Given the description of an element on the screen output the (x, y) to click on. 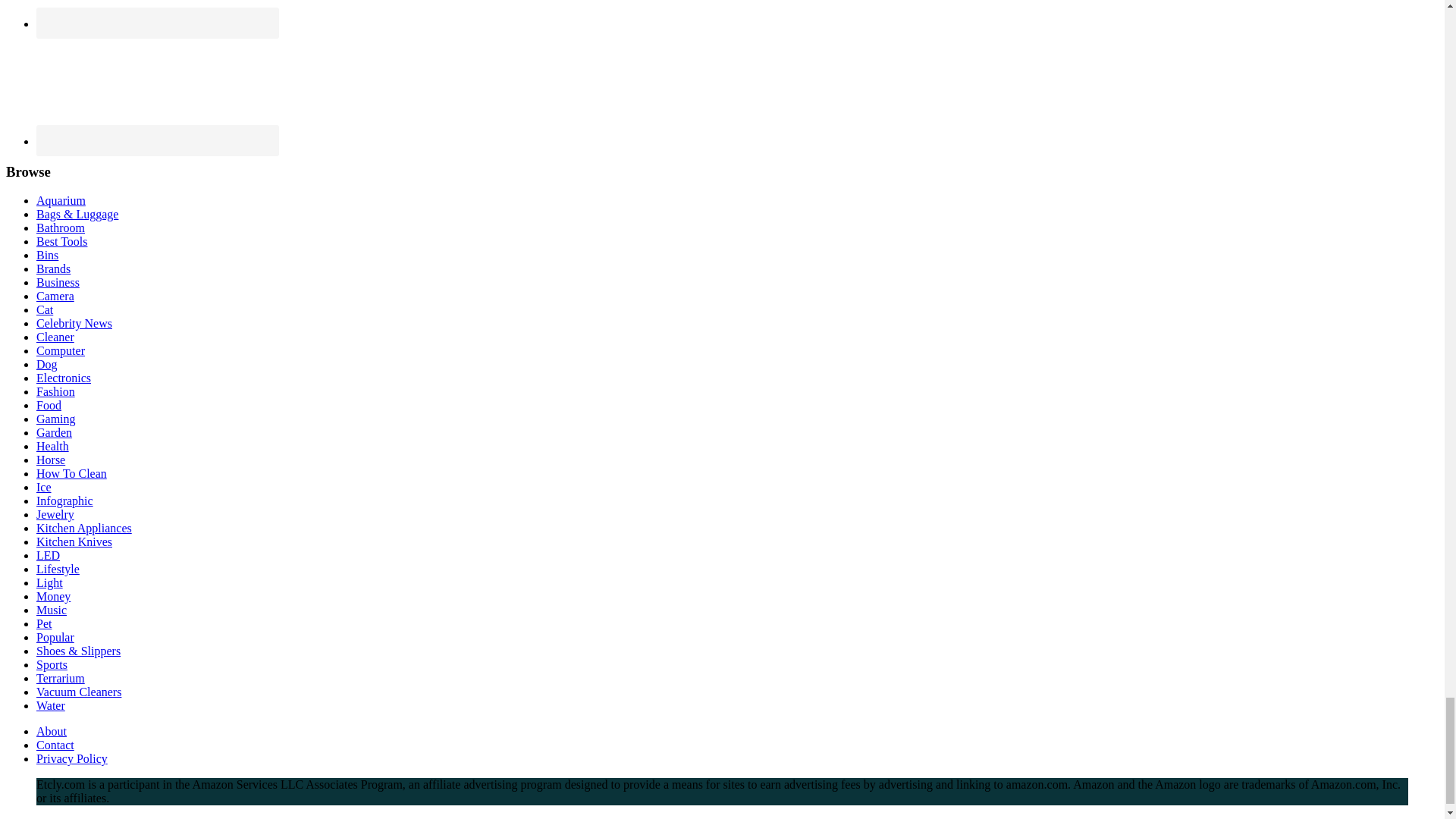
Facebook (156, 13)
Twitter (156, 88)
